Given the description of an element on the screen output the (x, y) to click on. 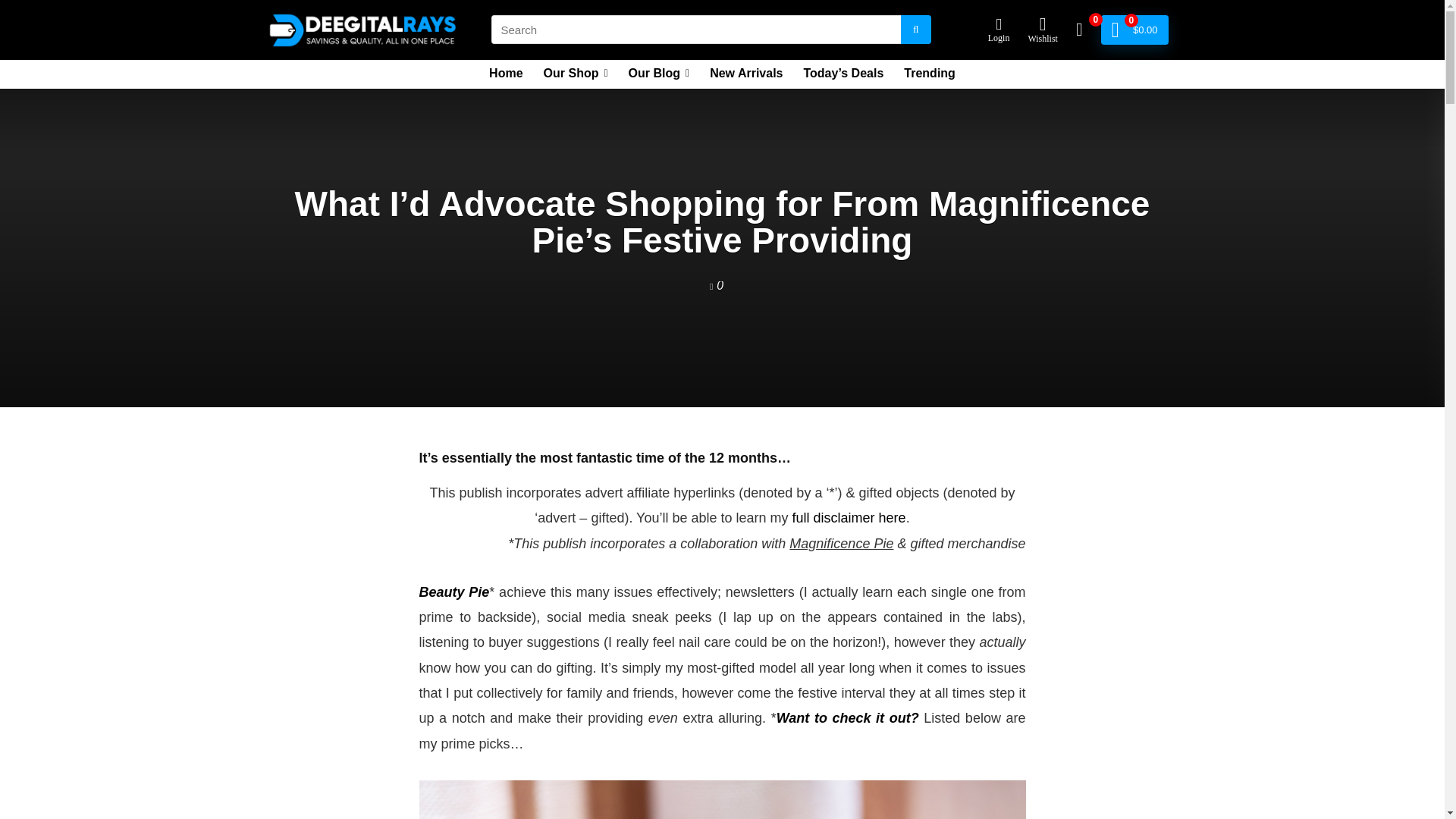
Home (505, 73)
Our Shop (575, 73)
